Given the description of an element on the screen output the (x, y) to click on. 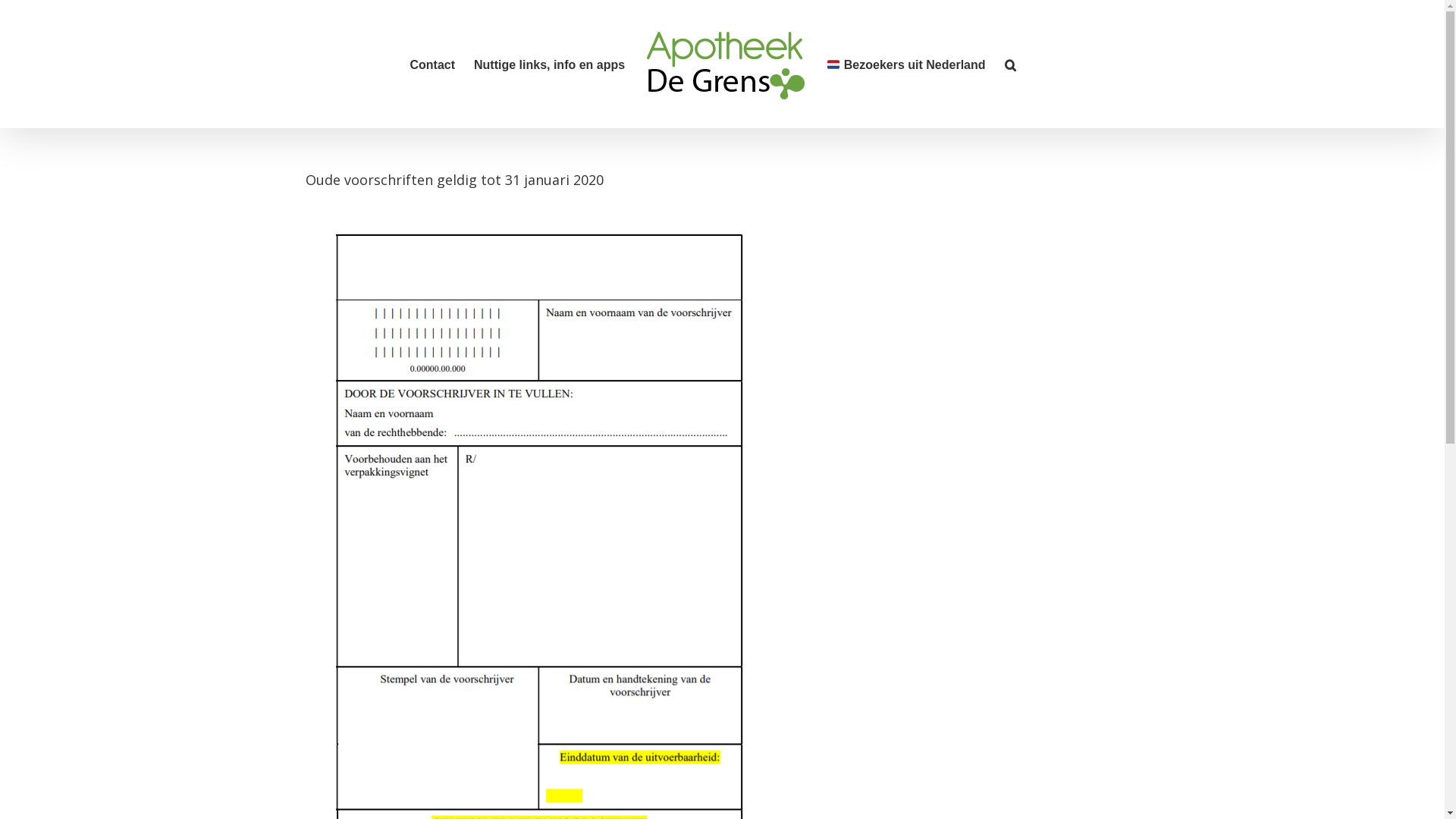
Zoeken Element type: hover (1010, 63)
Contact Element type: text (432, 63)
Bezoekers uit Nederland Element type: text (905, 63)
Nuttige links, info en apps Element type: text (548, 63)
